Given the description of an element on the screen output the (x, y) to click on. 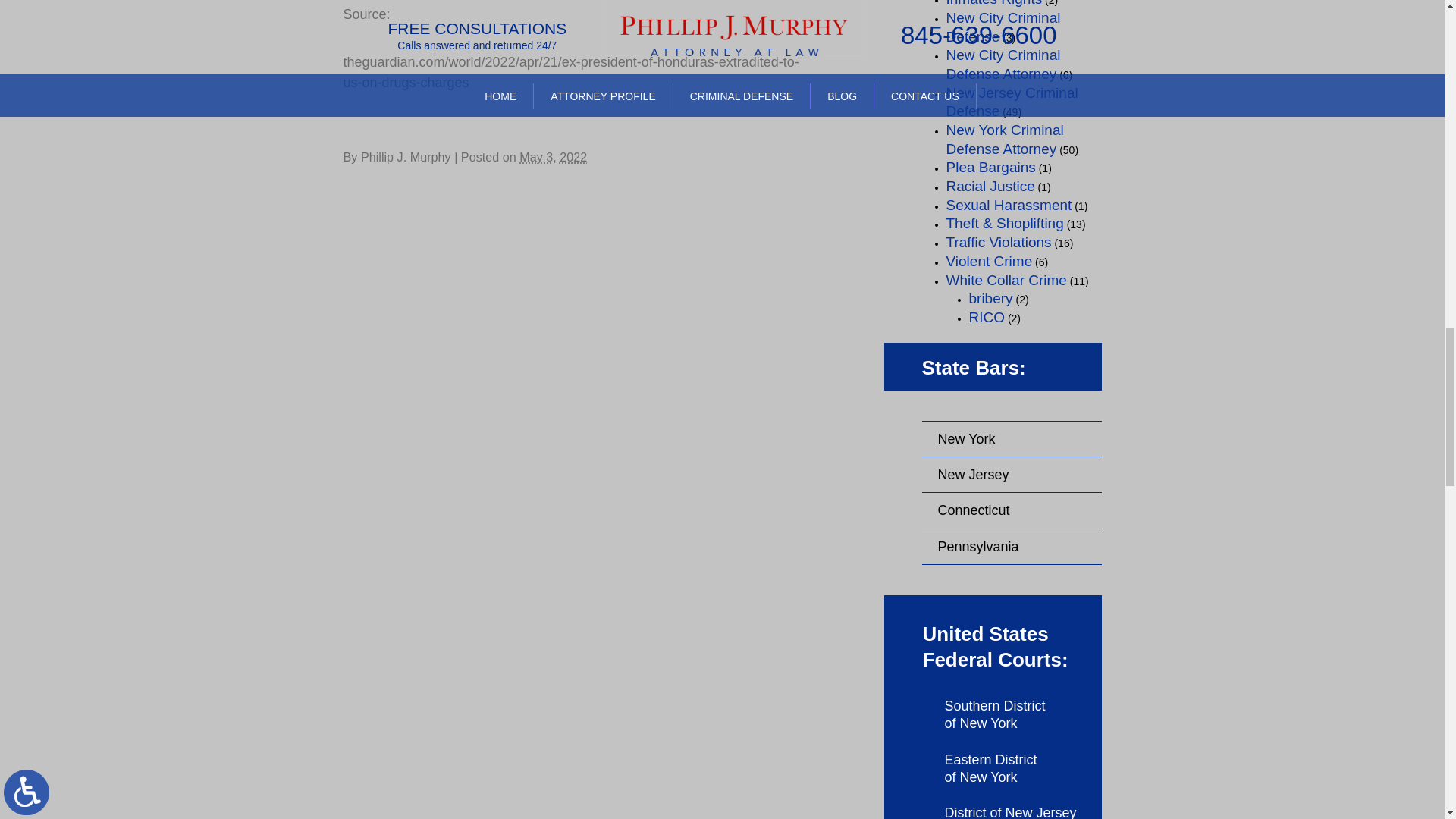
2022-05-03T02:18:57-0700 (552, 156)
